Given the description of an element on the screen output the (x, y) to click on. 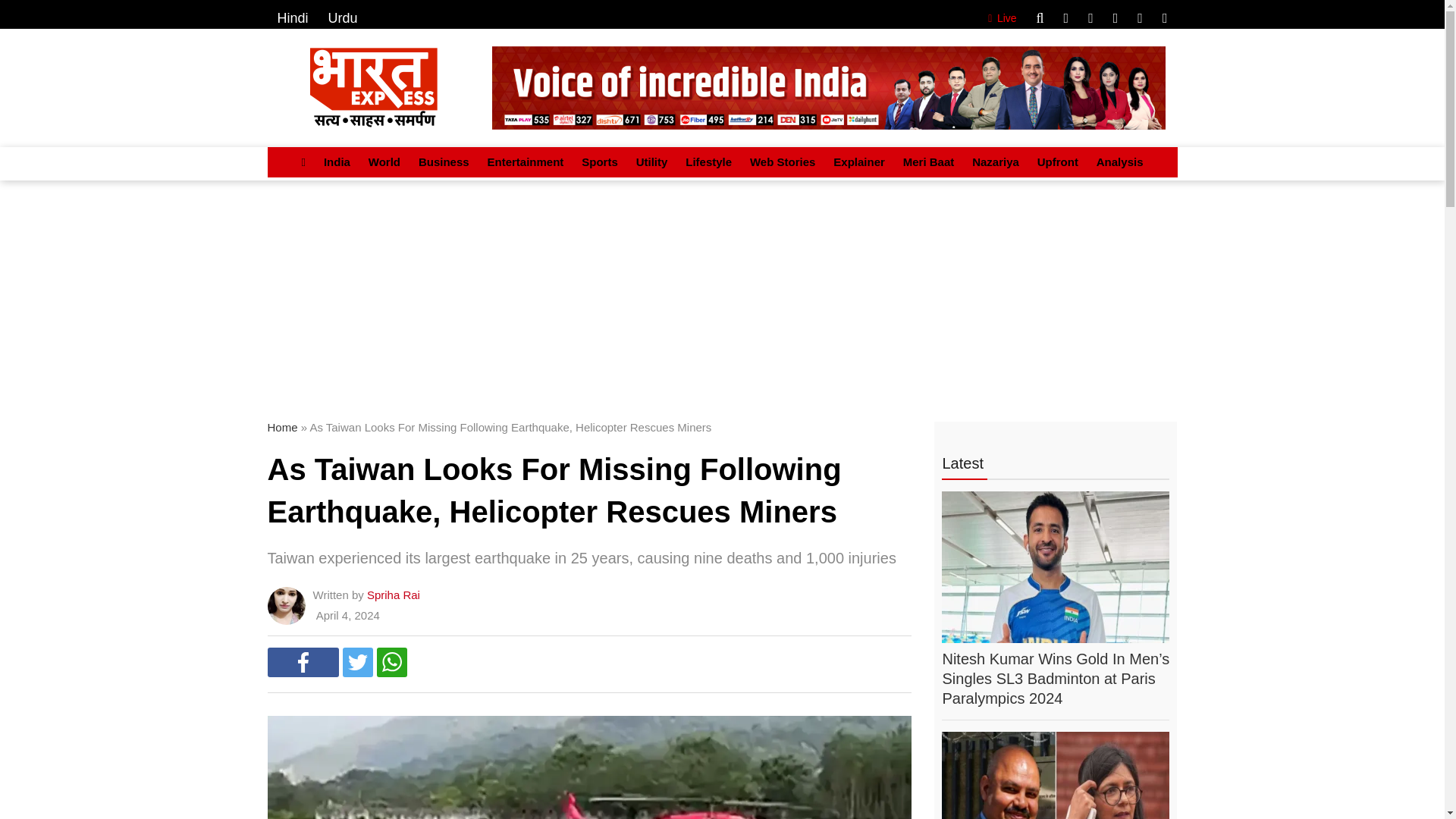
Sports (599, 162)
Bharat Express (828, 87)
Entertainment (524, 162)
Urdu (342, 17)
World (384, 162)
Meri Baat (928, 162)
Explainer (858, 162)
Bharat Express (373, 87)
Hindi (292, 17)
